Given the description of an element on the screen output the (x, y) to click on. 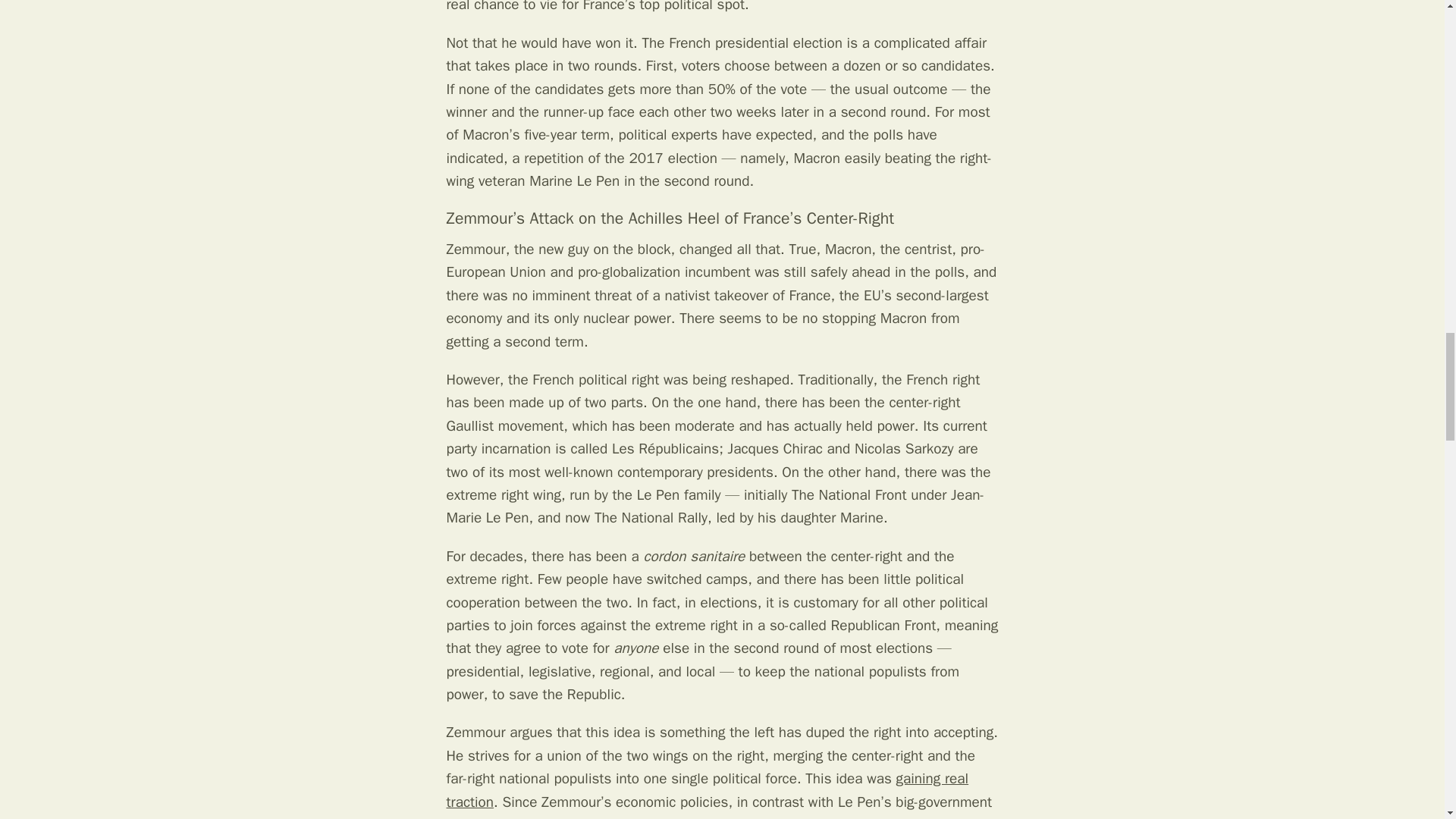
gaining real traction (706, 789)
